Given the description of an element on the screen output the (x, y) to click on. 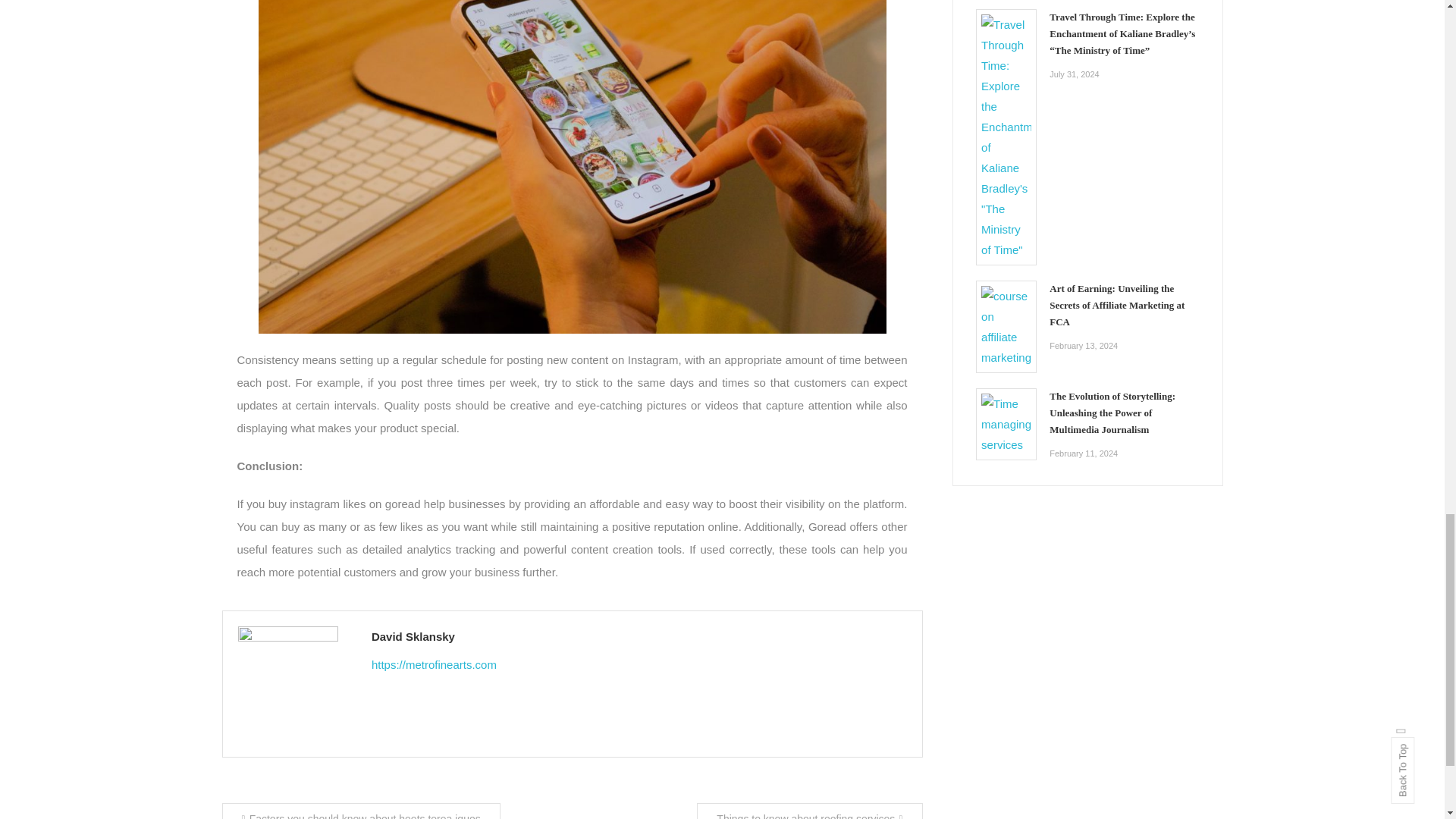
Things to know about roofing services (809, 811)
Factors you should know about heets terea iquos (360, 811)
David Sklansky (639, 636)
